Given the description of an element on the screen output the (x, y) to click on. 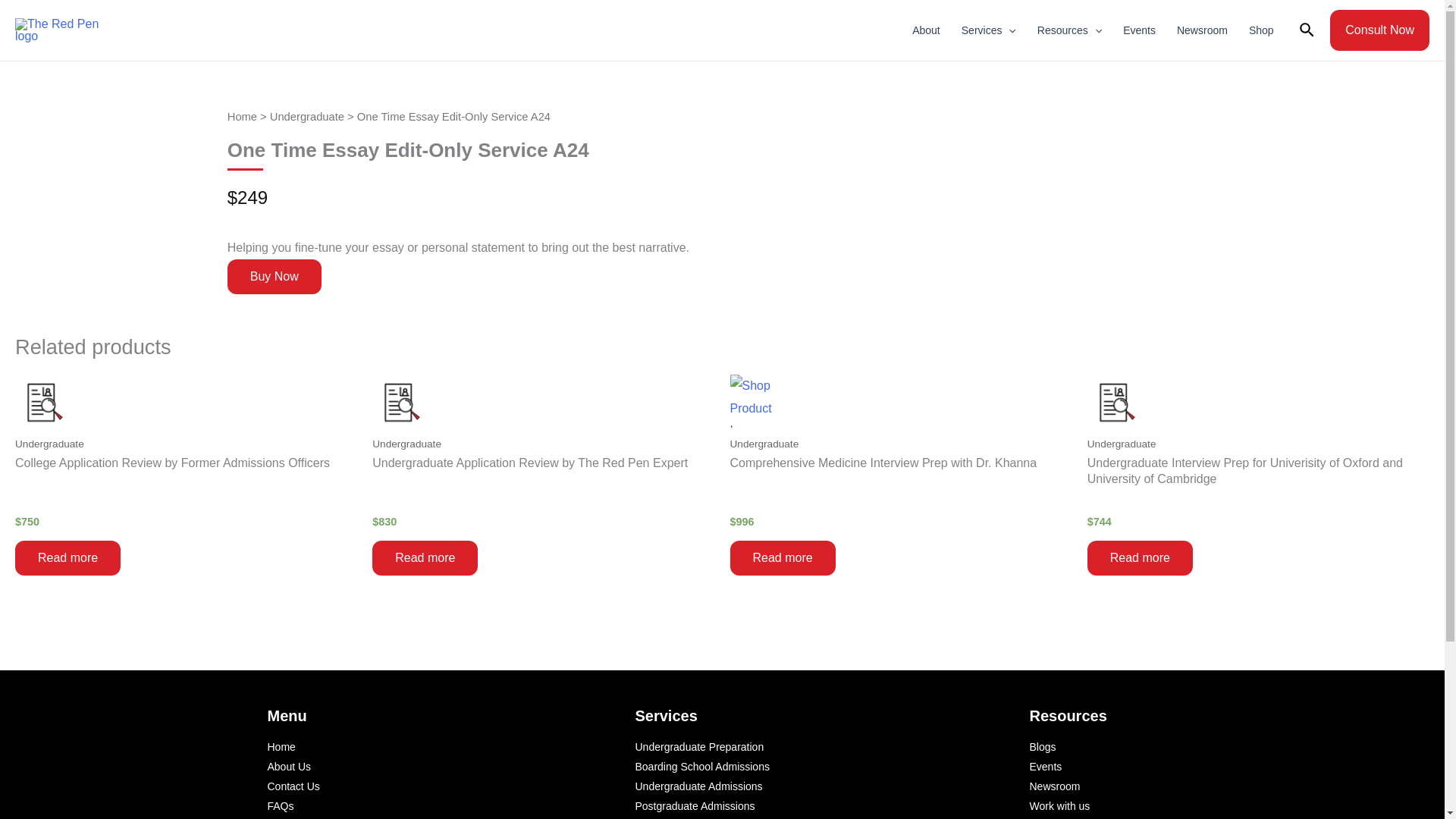
Newsroom (1202, 30)
Consult Now (1379, 29)
Resources (1069, 30)
Services (988, 30)
